Given the description of an element on the screen output the (x, y) to click on. 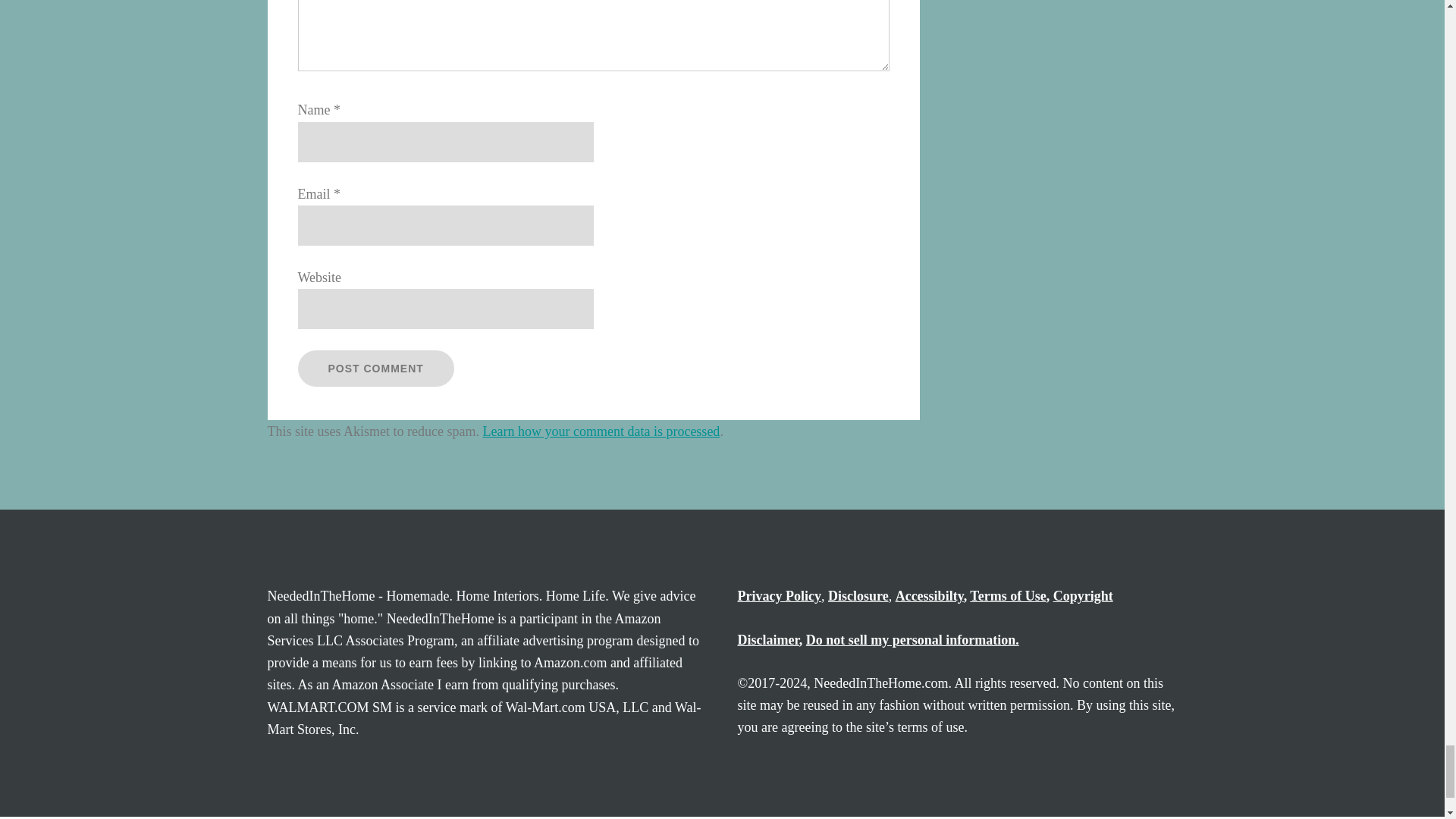
Post Comment (374, 368)
